Given the description of an element on the screen output the (x, y) to click on. 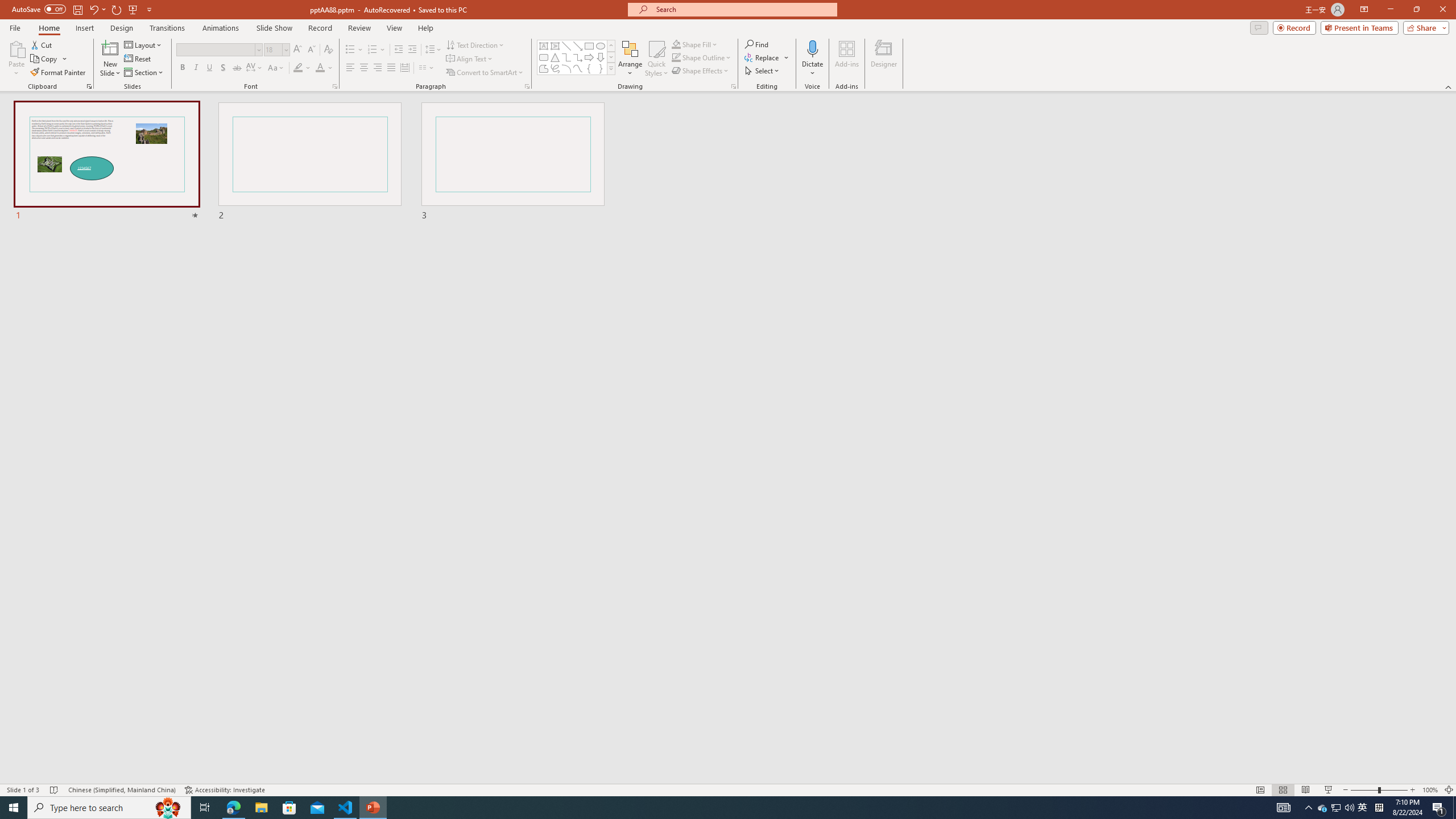
Shape Outline Teal, Accent 1 (675, 56)
